Given the description of an element on the screen output the (x, y) to click on. 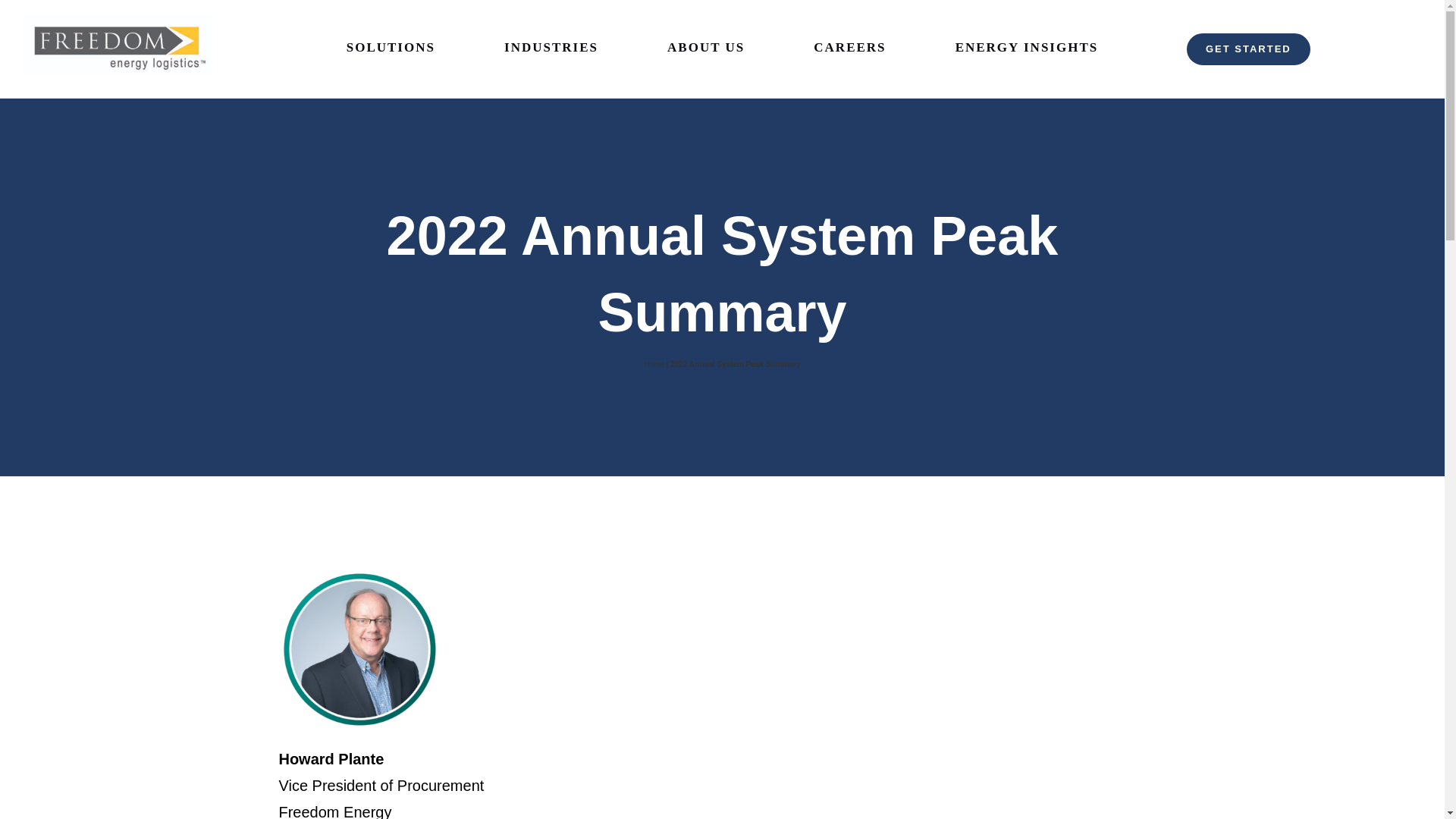
ENERGY INSIGHTS (1027, 48)
SOLUTIONS (390, 48)
INDUSTRIES (550, 48)
Home (653, 364)
GET STARTED (1248, 49)
CAREERS (849, 48)
ABOUT US (705, 48)
